Given the description of an element on the screen output the (x, y) to click on. 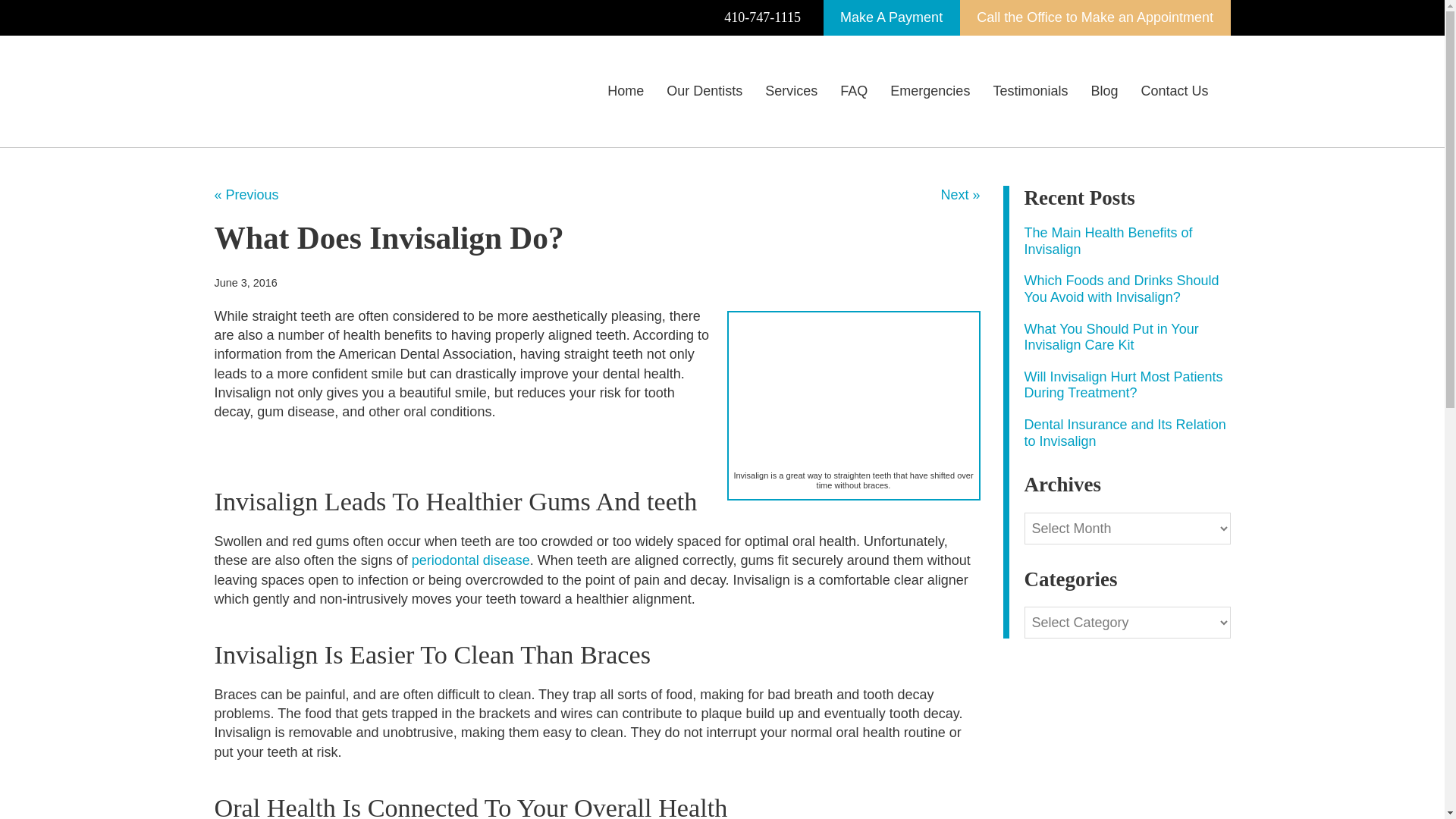
The Main Health Benefits of Invisalign (1107, 241)
Services (791, 90)
Testimonials (1029, 90)
FAQ (853, 90)
Will Invisalign Hurt Most Patients During Treatment? (1123, 385)
Which Foods and Drinks Should You Avoid with Invisalign? (1120, 288)
periodontal disease (470, 560)
Our Dentists (704, 90)
410-747-1115 (762, 18)
Blog (1103, 90)
